Given the description of an element on the screen output the (x, y) to click on. 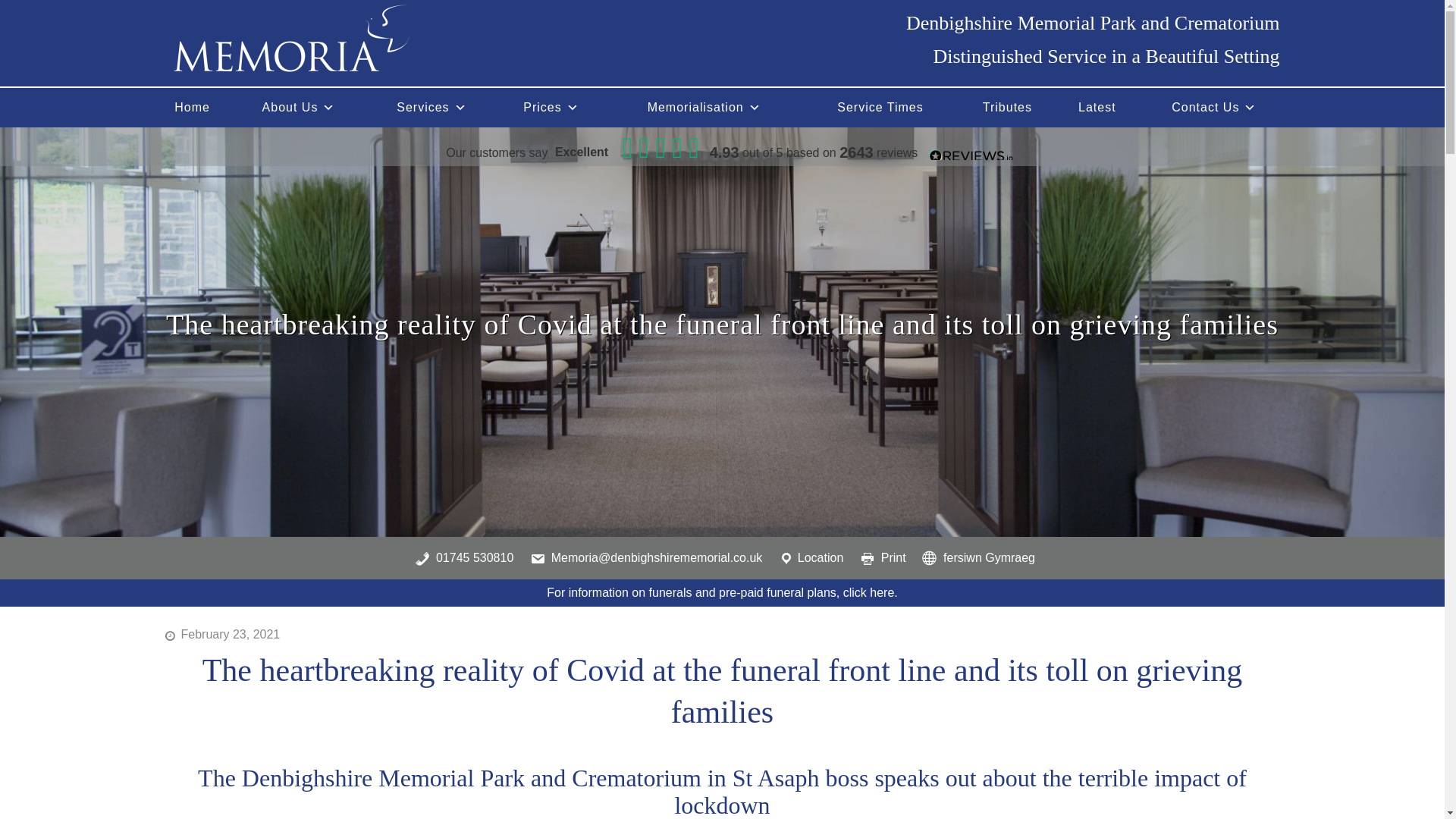
phone (461, 557)
print page (880, 557)
Ewch i fersiwn Gymraeg y wefan hon (975, 557)
find us (808, 557)
email (644, 557)
